Given the description of an element on the screen output the (x, y) to click on. 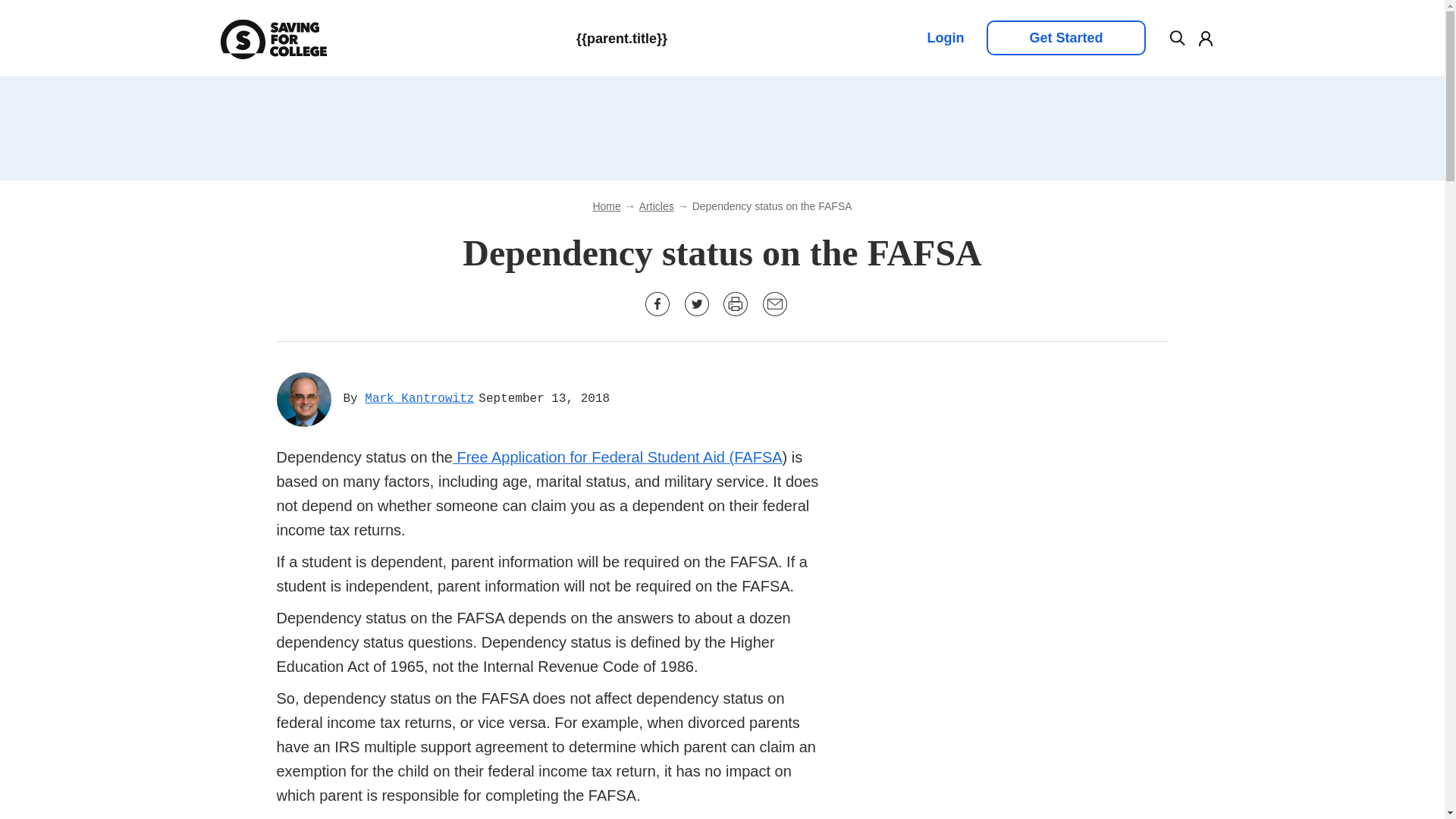
Get Started (1065, 37)
Articles (656, 205)
3rd party ad content (1053, 674)
Login (944, 37)
3rd party ad content (1053, 466)
Mark Kantrowitz (419, 398)
3rd party ad content (721, 128)
3rd party ad content (1053, 803)
Home (606, 205)
Dependency status on the FAFSA (772, 205)
